Given the description of an element on the screen output the (x, y) to click on. 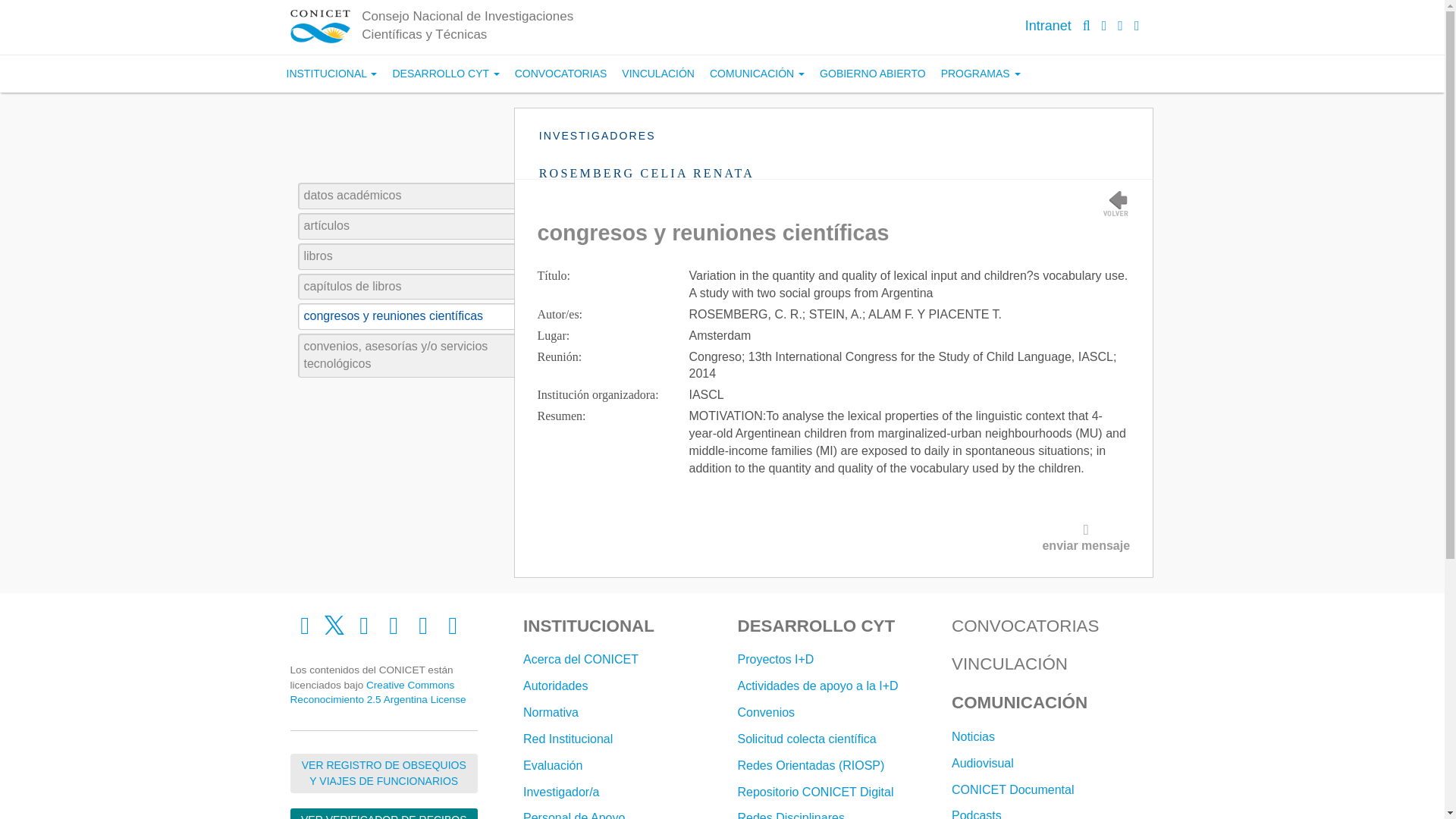
PROGRAMAS (980, 73)
Ver Registro de Obsequios y Viajes de Funcionarios (383, 773)
Intranet (1048, 25)
DESARROLLO CYT (445, 73)
Ver verificador de recibos (383, 813)
CONVOCATORIAS (560, 73)
INSTITUCIONAL (332, 73)
GOBIERNO ABIERTO (872, 73)
